Given the description of an element on the screen output the (x, y) to click on. 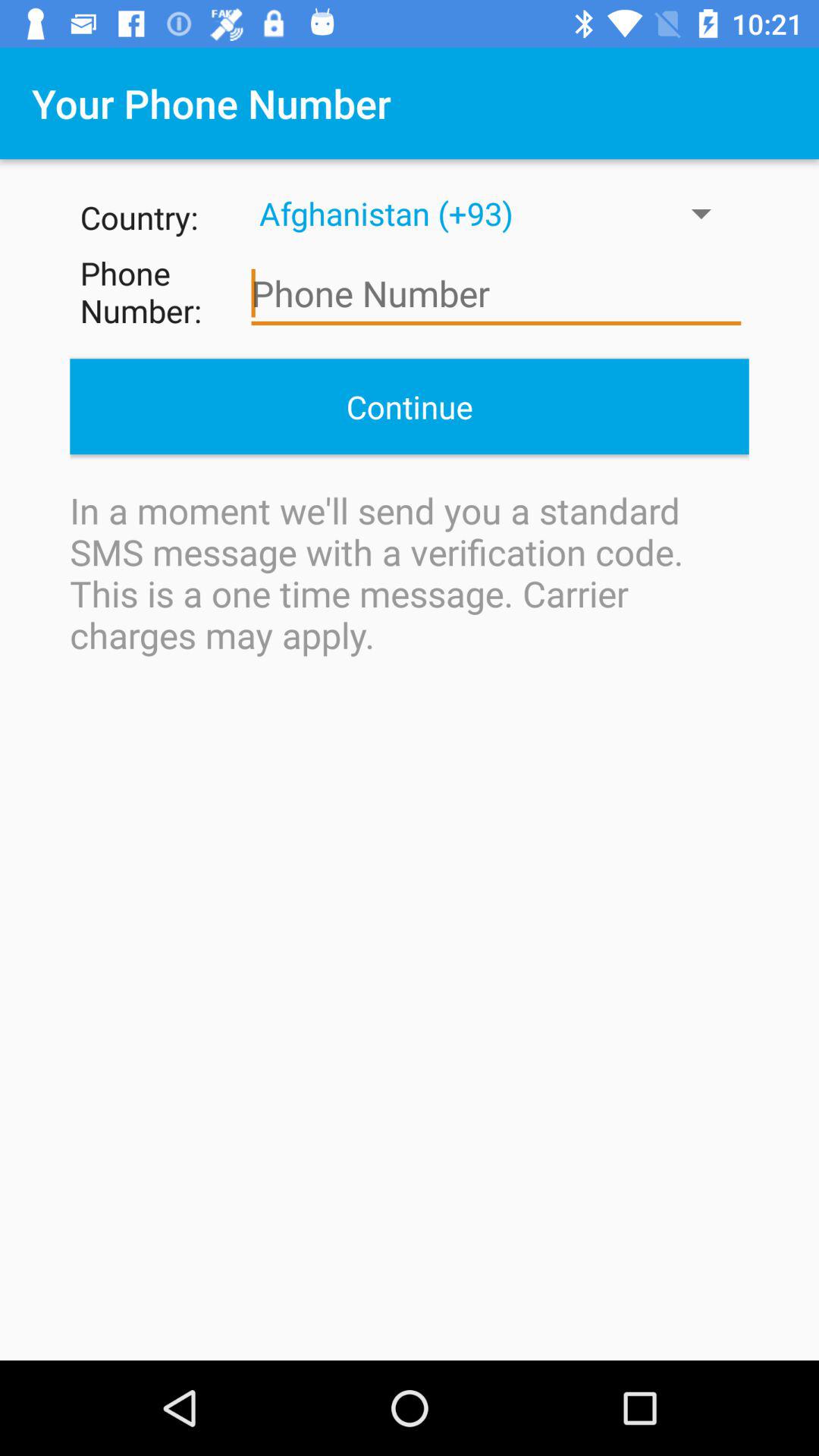
add phone number (496, 293)
